Given the description of an element on the screen output the (x, y) to click on. 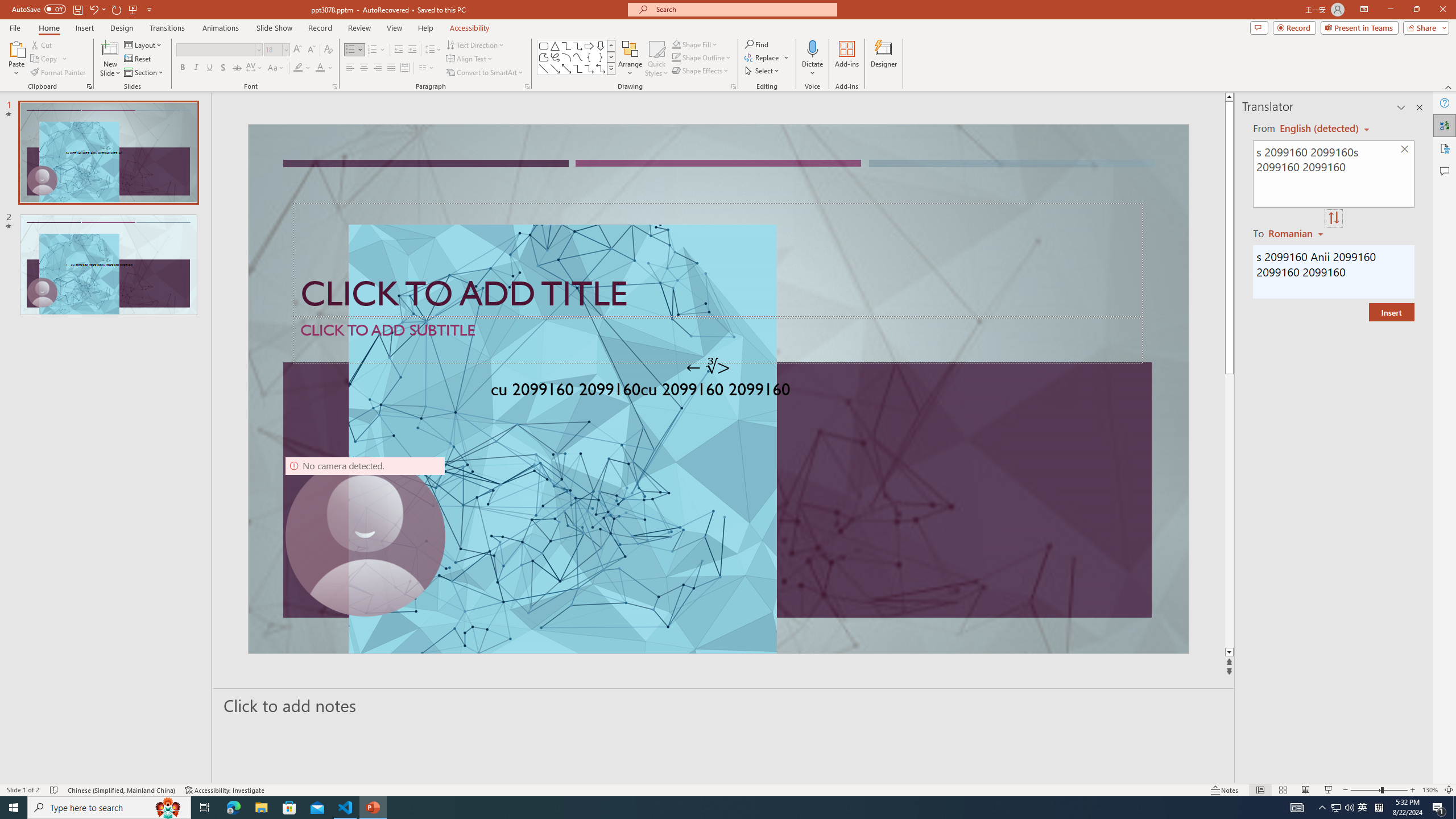
Zoom 130% (1430, 790)
Title TextBox (717, 260)
Shape Effects (700, 69)
Line Arrow: Double (566, 68)
